Given the description of an element on the screen output the (x, y) to click on. 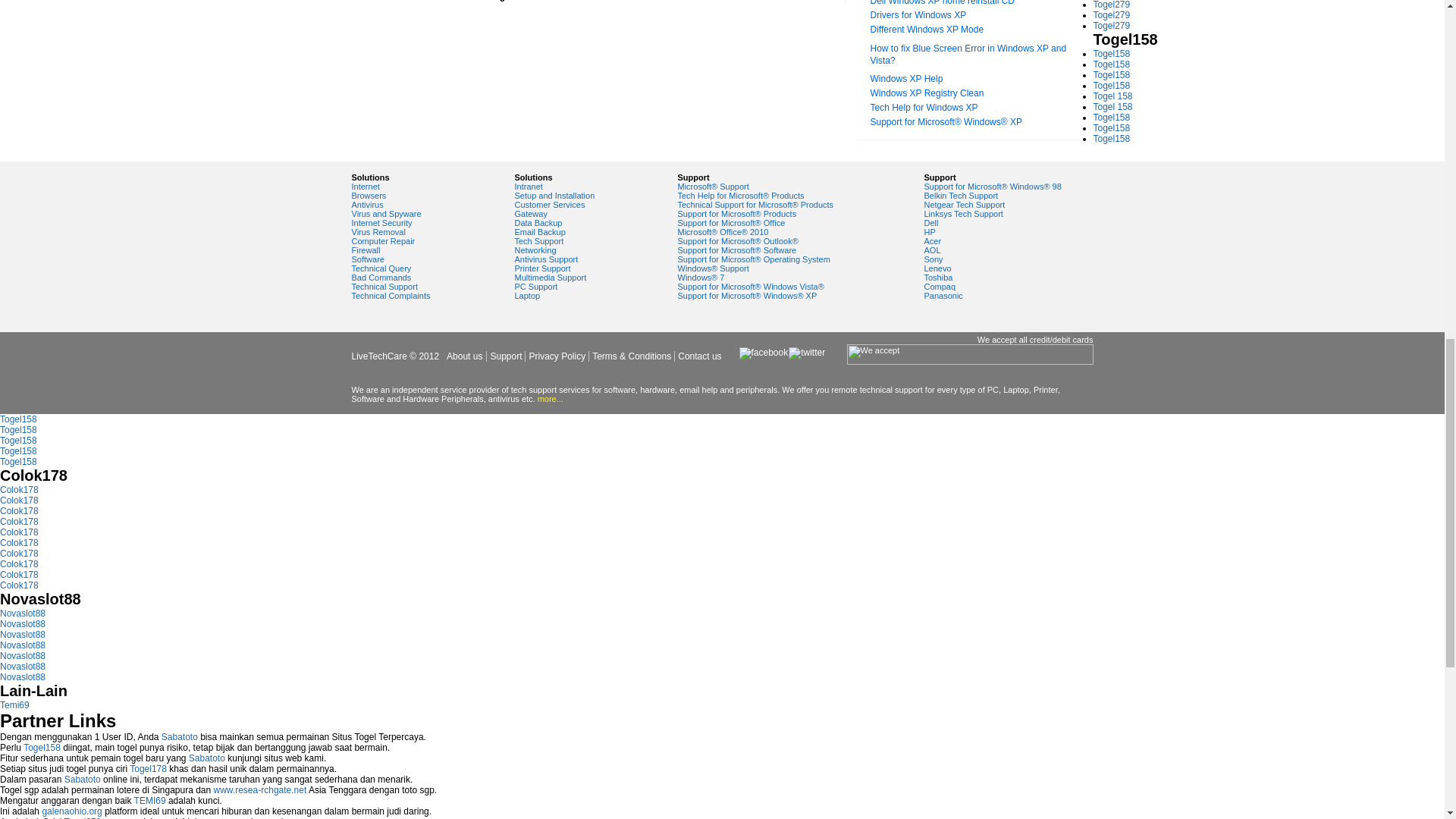
Browsers (369, 194)
Different Windows XP Mode (927, 29)
Antivirus (368, 204)
Tech Help for Windows XP (924, 107)
Dell Windows XP home reinstall CD (942, 2)
Internet Security (382, 222)
Windows XP Registry Clean (927, 92)
How to fix Blue Screen Error in Windows XP and Vista? (968, 54)
Drivers for Windows XP (918, 14)
Internet (366, 185)
Windows XP Help (906, 78)
Virus and Spyware (387, 213)
